Given the description of an element on the screen output the (x, y) to click on. 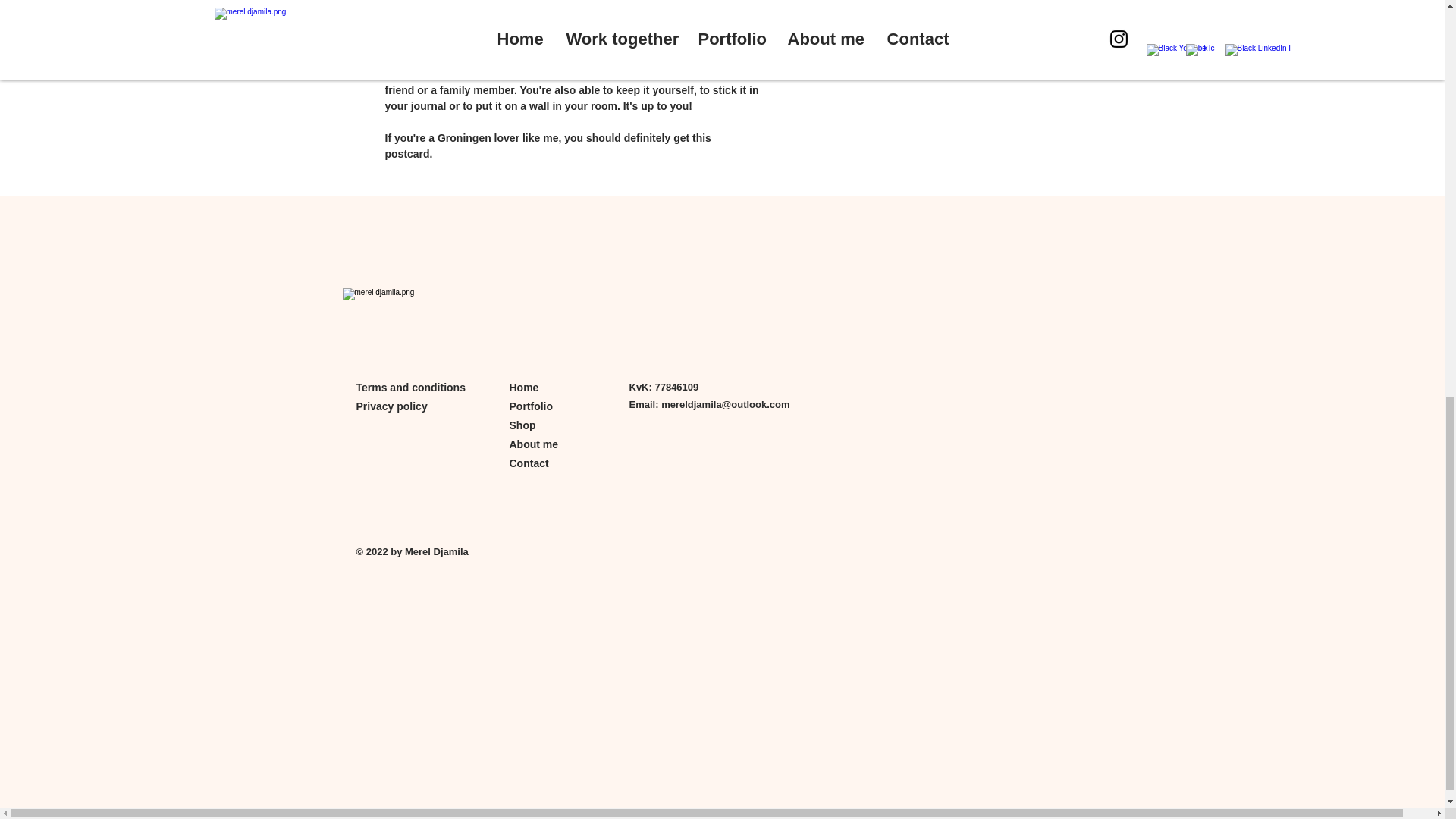
Home (523, 387)
Privacy policy (392, 406)
About me (534, 444)
Portfolio (531, 406)
Terms and conditions (410, 387)
merel handwriting1.png (401, 318)
